Given the description of an element on the screen output the (x, y) to click on. 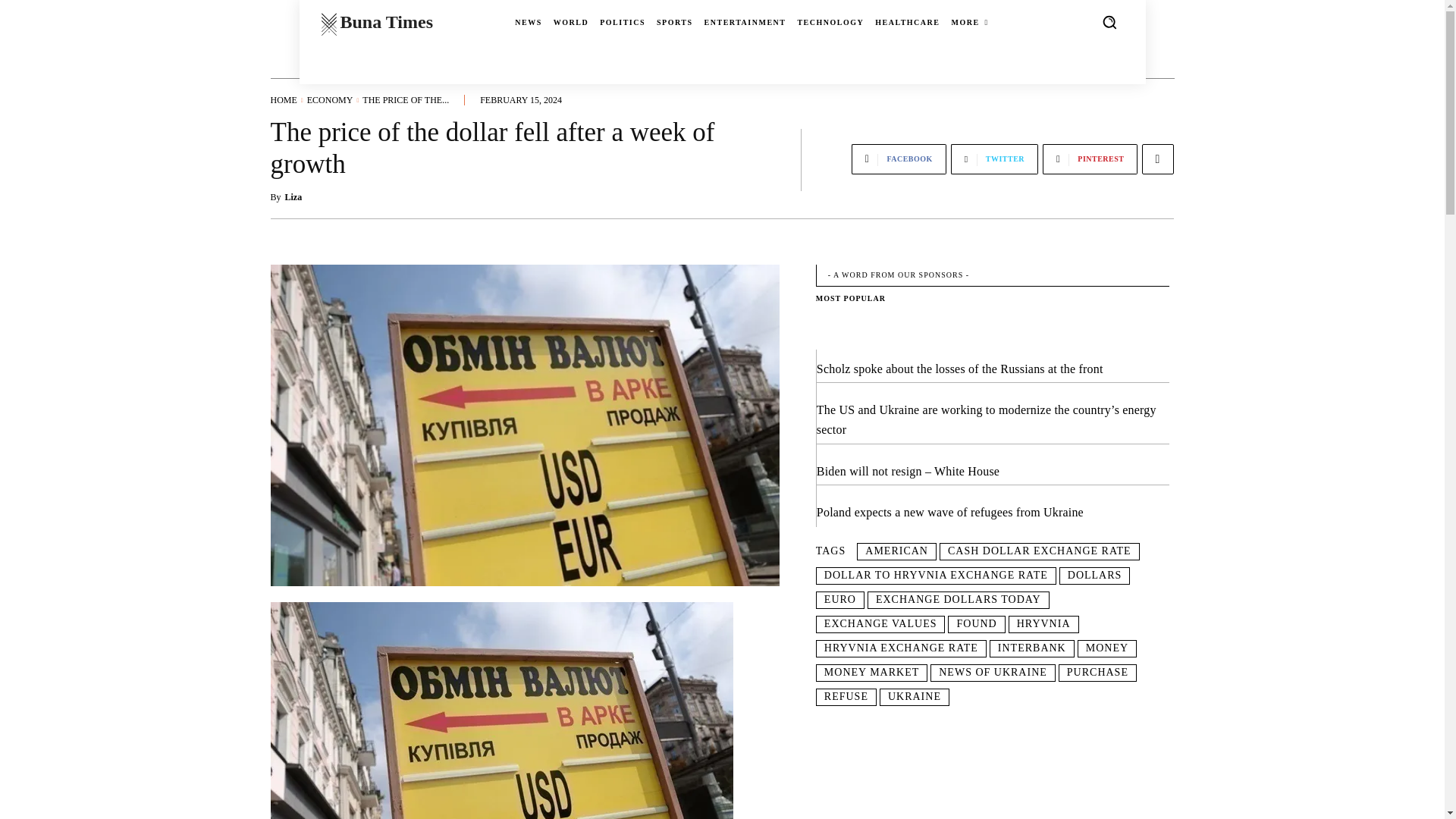
SPORTS (674, 22)
TECHNOLOGY (829, 22)
POLITICS (622, 22)
Twitter (994, 159)
NEWS (528, 22)
Facebook (898, 159)
MORE (969, 22)
More (1157, 159)
View all posts in Economy (330, 100)
Pinterest (1089, 159)
WORLD (570, 22)
The price of the dollar fell after a week of growth (500, 710)
HEALTHCARE (907, 22)
ECONOMY (330, 100)
Liza (293, 196)
